Given the description of an element on the screen output the (x, y) to click on. 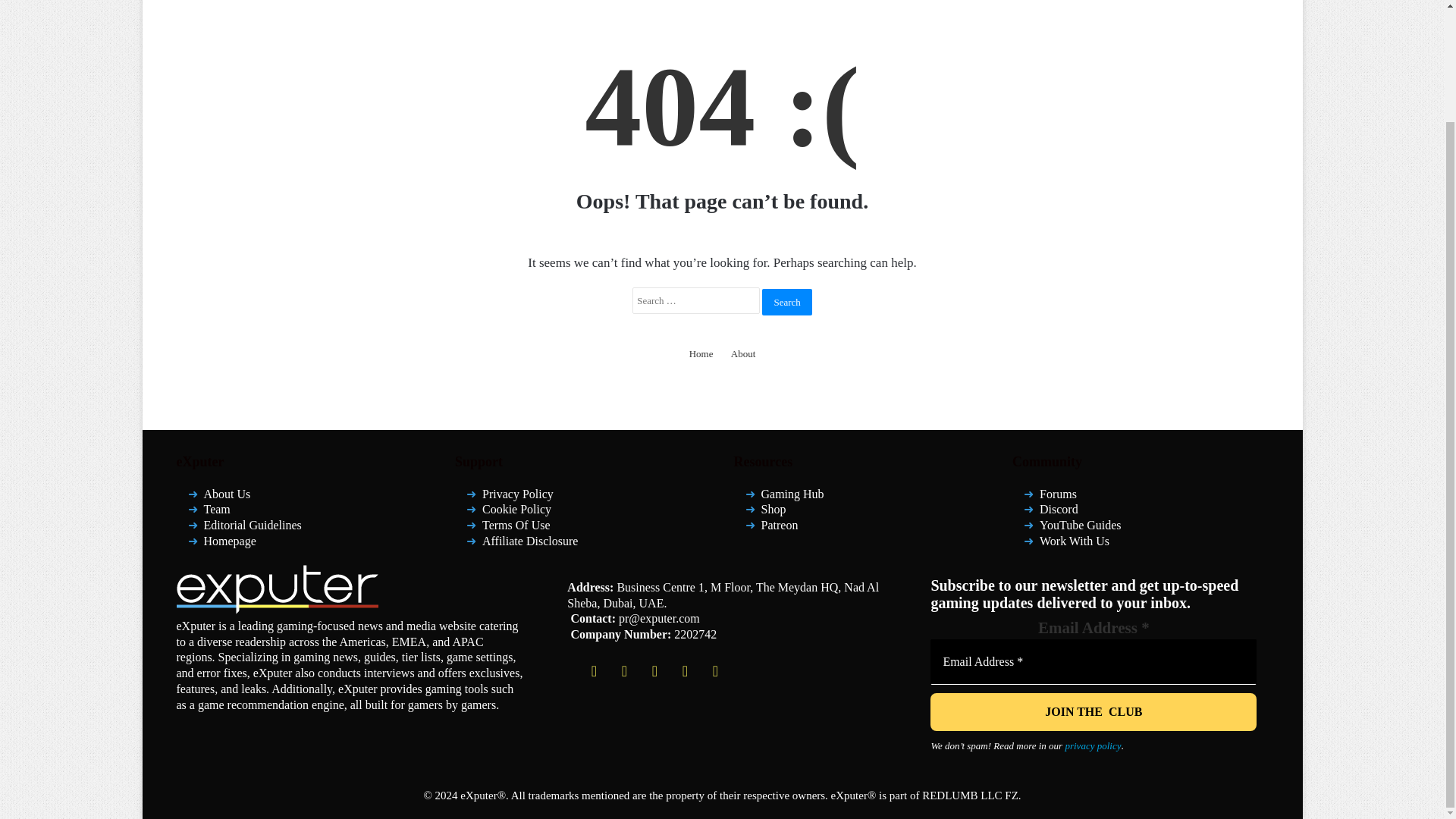
Search (785, 301)
Email Address (1093, 661)
JOIN THE  CLUB (1093, 711)
Search (785, 301)
